Given the description of an element on the screen output the (x, y) to click on. 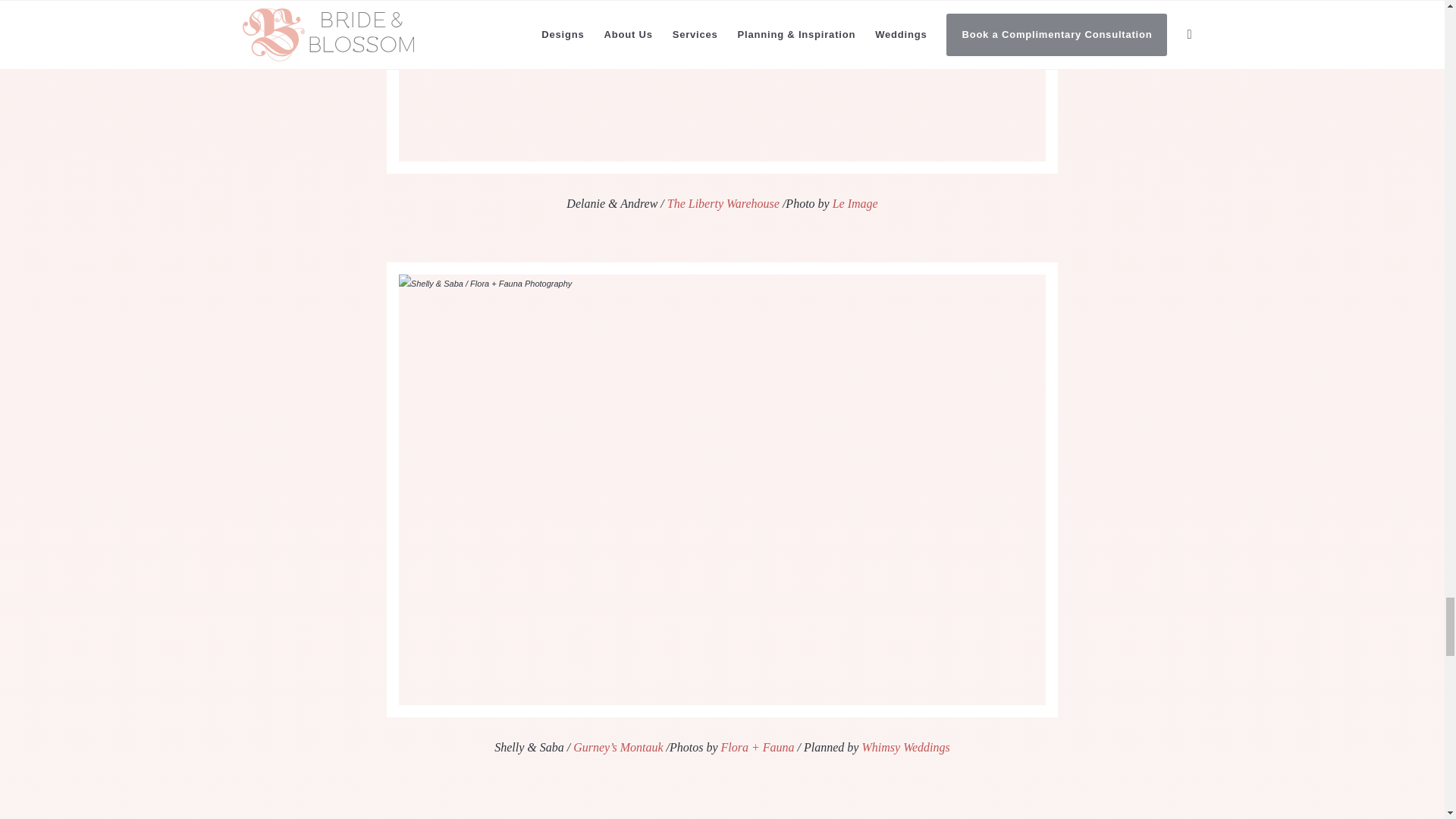
Whimsy Weddings (905, 747)
Le Image (854, 203)
The Liberty Warehouse (720, 203)
